Given the description of an element on the screen output the (x, y) to click on. 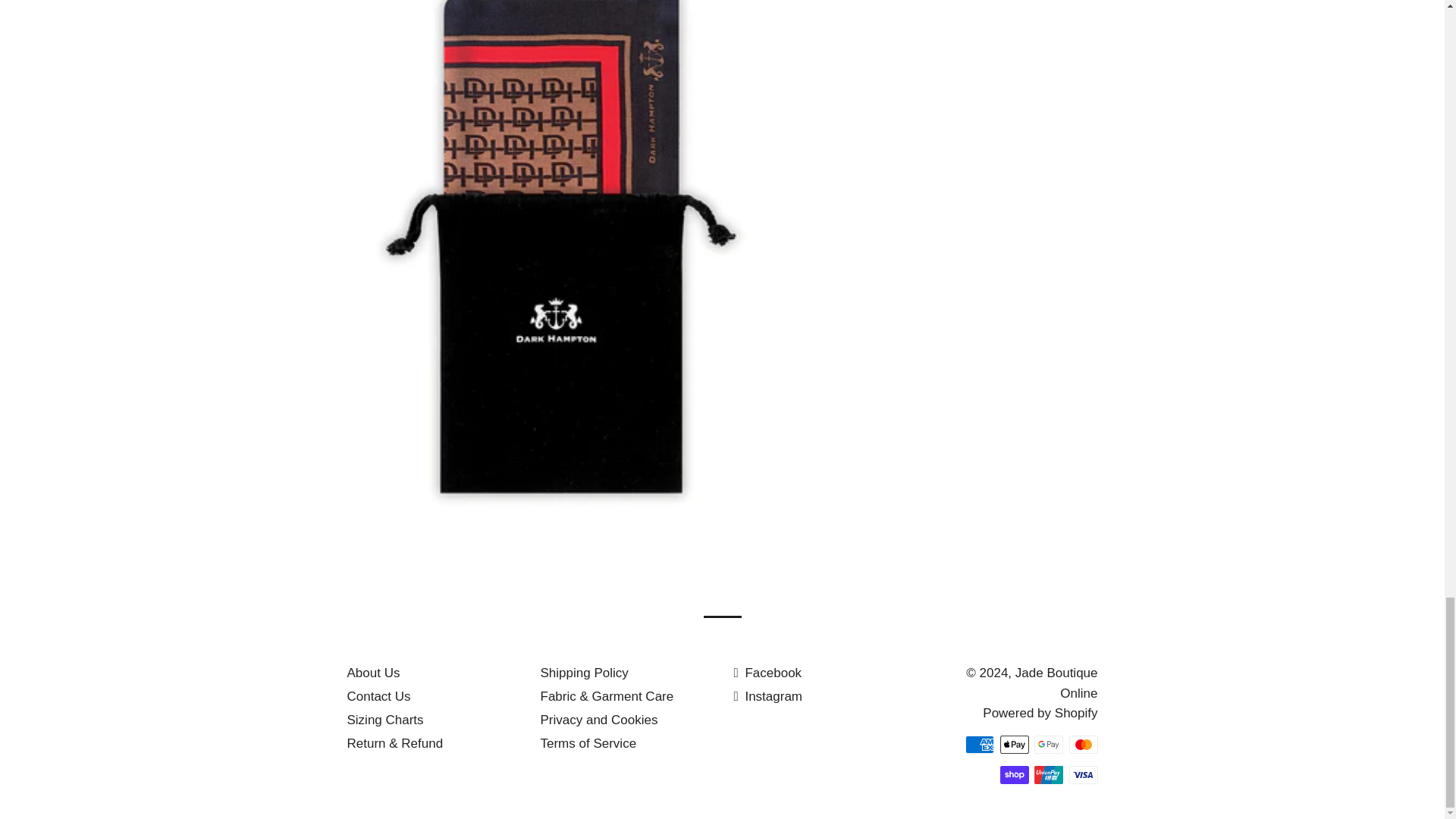
Shop Pay (1012, 774)
Jade Boutique Online on Facebook (767, 672)
Jade Boutique Online on Instagram (768, 696)
Google Pay (1047, 744)
Apple Pay (1012, 744)
Mastercard (1082, 744)
Union Pay (1047, 774)
American Express (979, 744)
Visa (1082, 774)
